Given the description of an element on the screen output the (x, y) to click on. 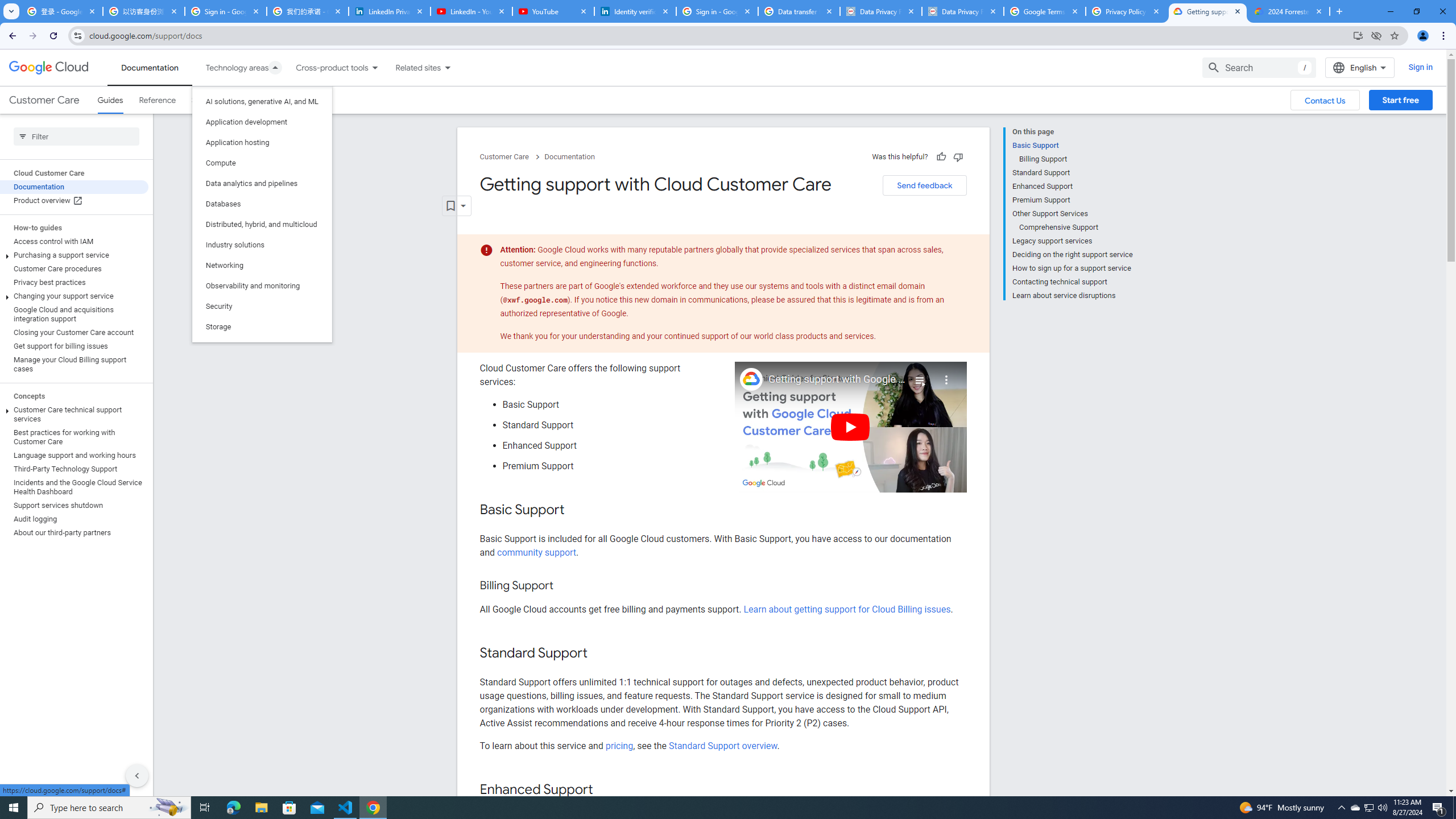
Customer Care technical support services (74, 413)
Playlist (919, 375)
Data Privacy Framework (963, 11)
Standard Support (1071, 172)
Customer Care (44, 100)
Get support for billing issues (74, 345)
Third-Party Technology Support (74, 468)
Contacting technical support (1071, 282)
Getting support with Google Cloud Customer Care (837, 379)
Deciding on the right support service (1071, 254)
Install Google Cloud (1358, 35)
Billing Support (1075, 159)
